Given the description of an element on the screen output the (x, y) to click on. 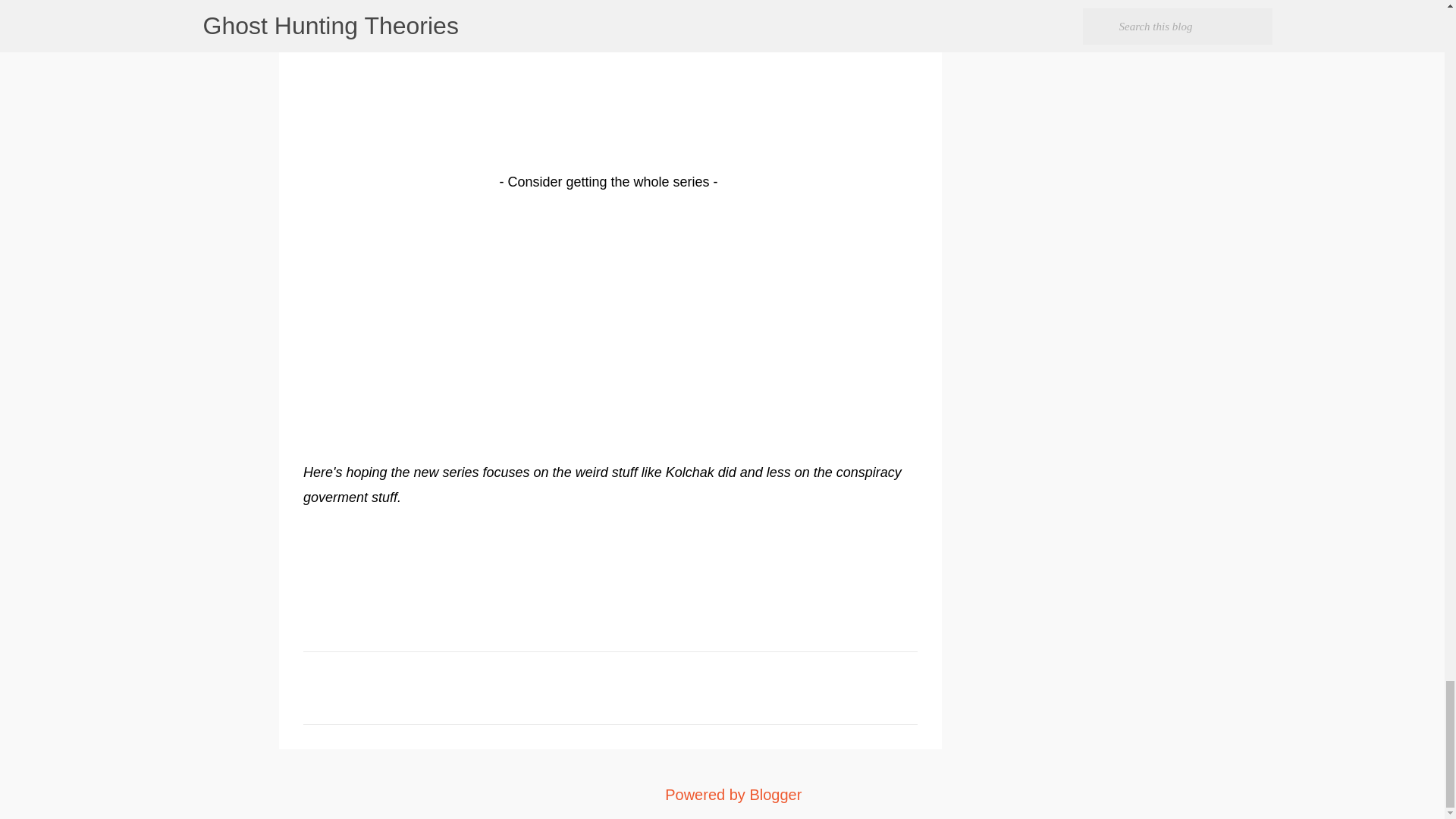
Powered by Blogger (722, 794)
